Given the description of an element on the screen output the (x, y) to click on. 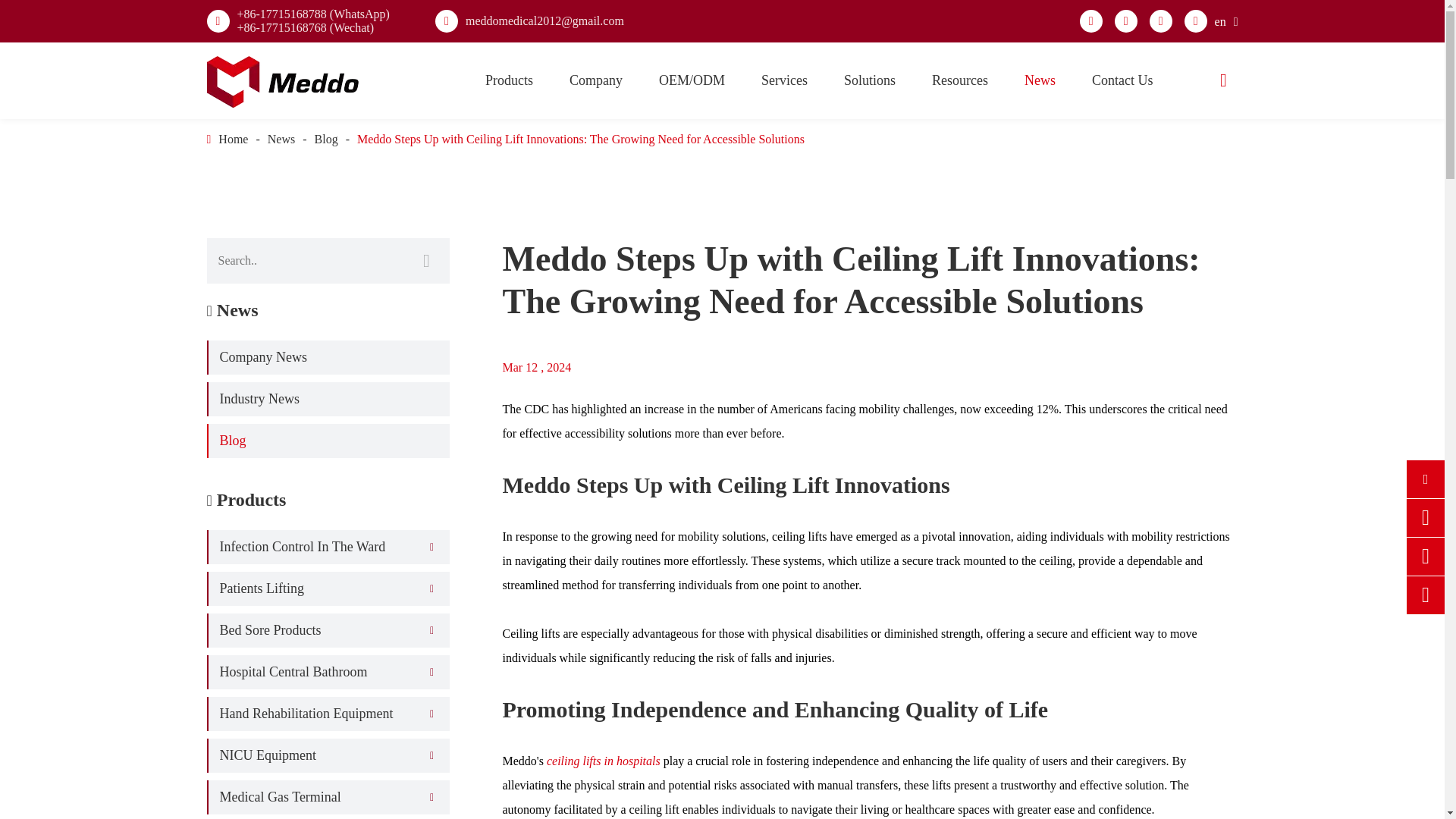
Blog (325, 138)
News (281, 138)
Shanghai Meddo Medical Devices Co., Ltd. (282, 79)
